Given the description of an element on the screen output the (x, y) to click on. 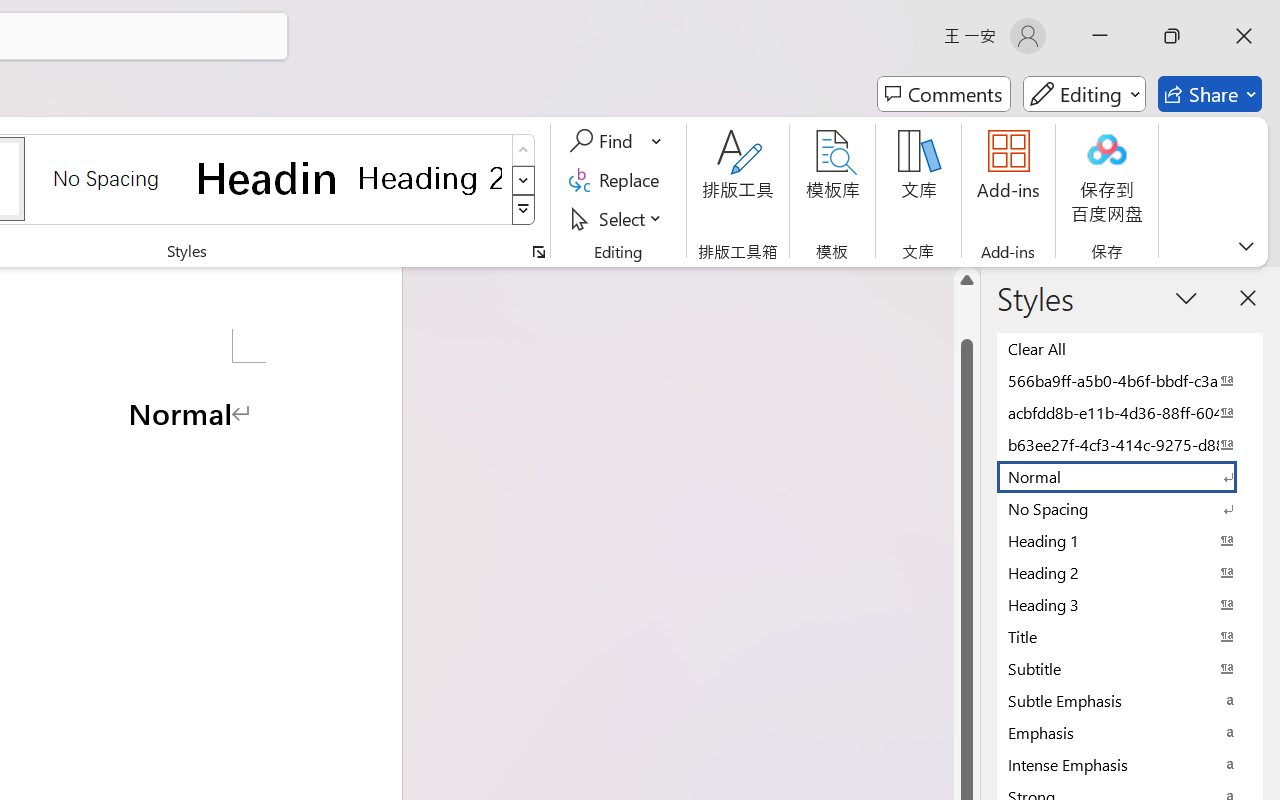
Styles (523, 209)
Normal (1130, 476)
Styles... (538, 252)
Task Pane Options (1186, 297)
acbfdd8b-e11b-4d36-88ff-6049b138f862 (1130, 412)
Select (618, 218)
Emphasis (1130, 732)
Intense Emphasis (1130, 764)
Subtle Emphasis (1130, 700)
